Given the description of an element on the screen output the (x, y) to click on. 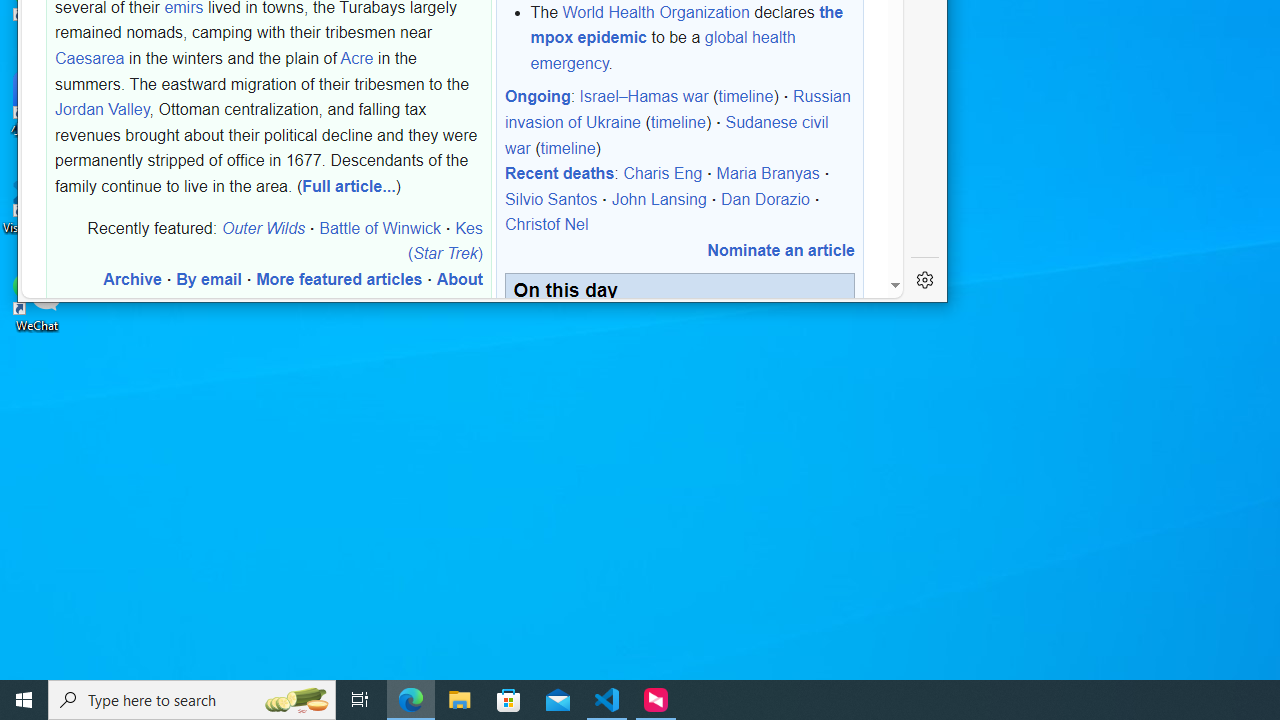
Christof Nel (546, 225)
Christof Nel (546, 225)
About (459, 279)
Task View (359, 699)
Kes (Star Trek) (444, 240)
Outer Wilds (263, 227)
Dan Dorazio (765, 199)
Visual Studio Code - 1 running window (607, 699)
More featured articles (339, 279)
